Given the description of an element on the screen output the (x, y) to click on. 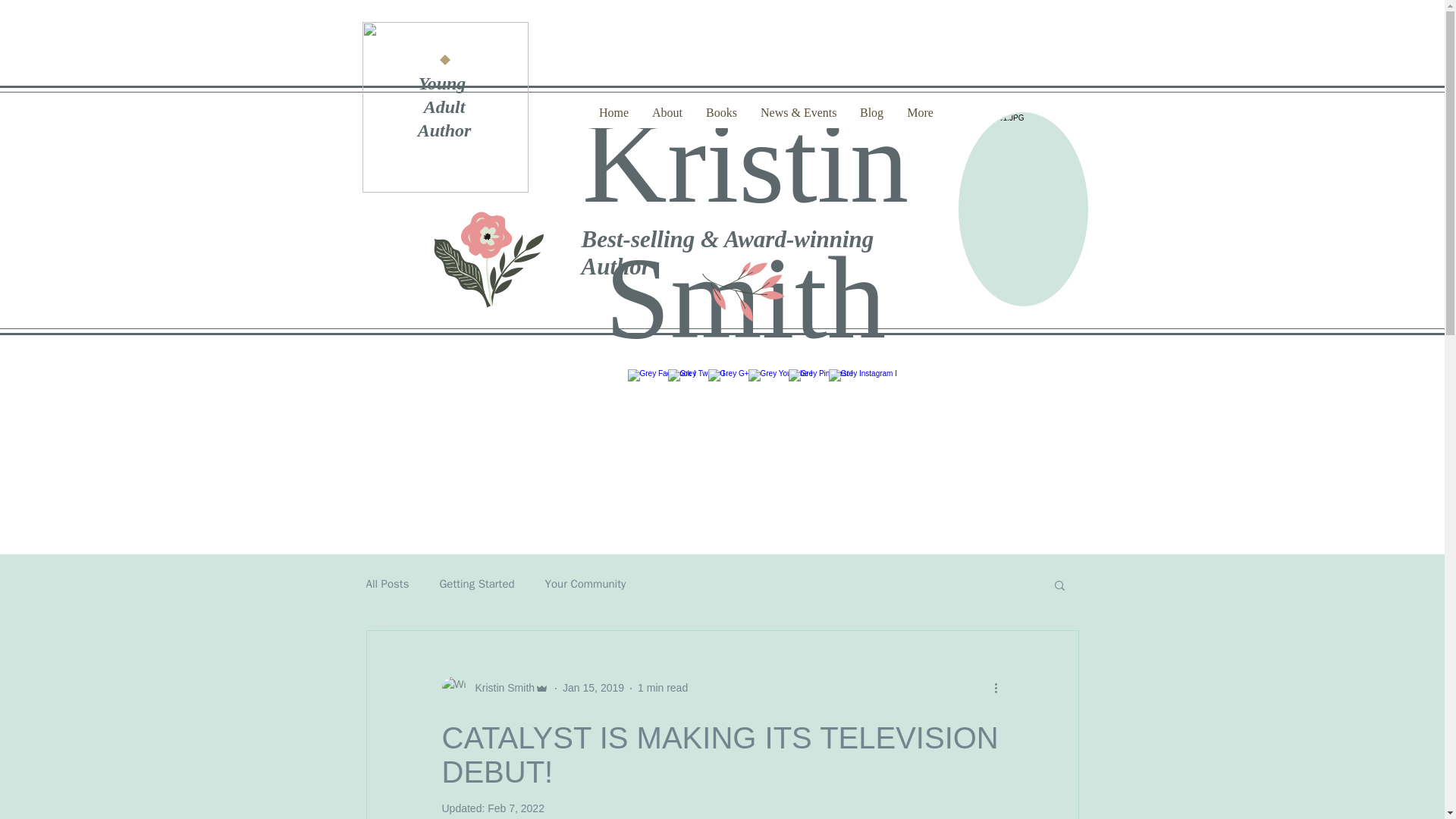
Jan 15, 2019 (593, 687)
Getting Started (476, 584)
Kristin Smith (499, 688)
Home (613, 112)
About (667, 112)
All Posts (387, 584)
Books (721, 112)
Feb 7, 2022 (515, 808)
Blog (871, 112)
Your Community (585, 584)
